Given the description of an element on the screen output the (x, y) to click on. 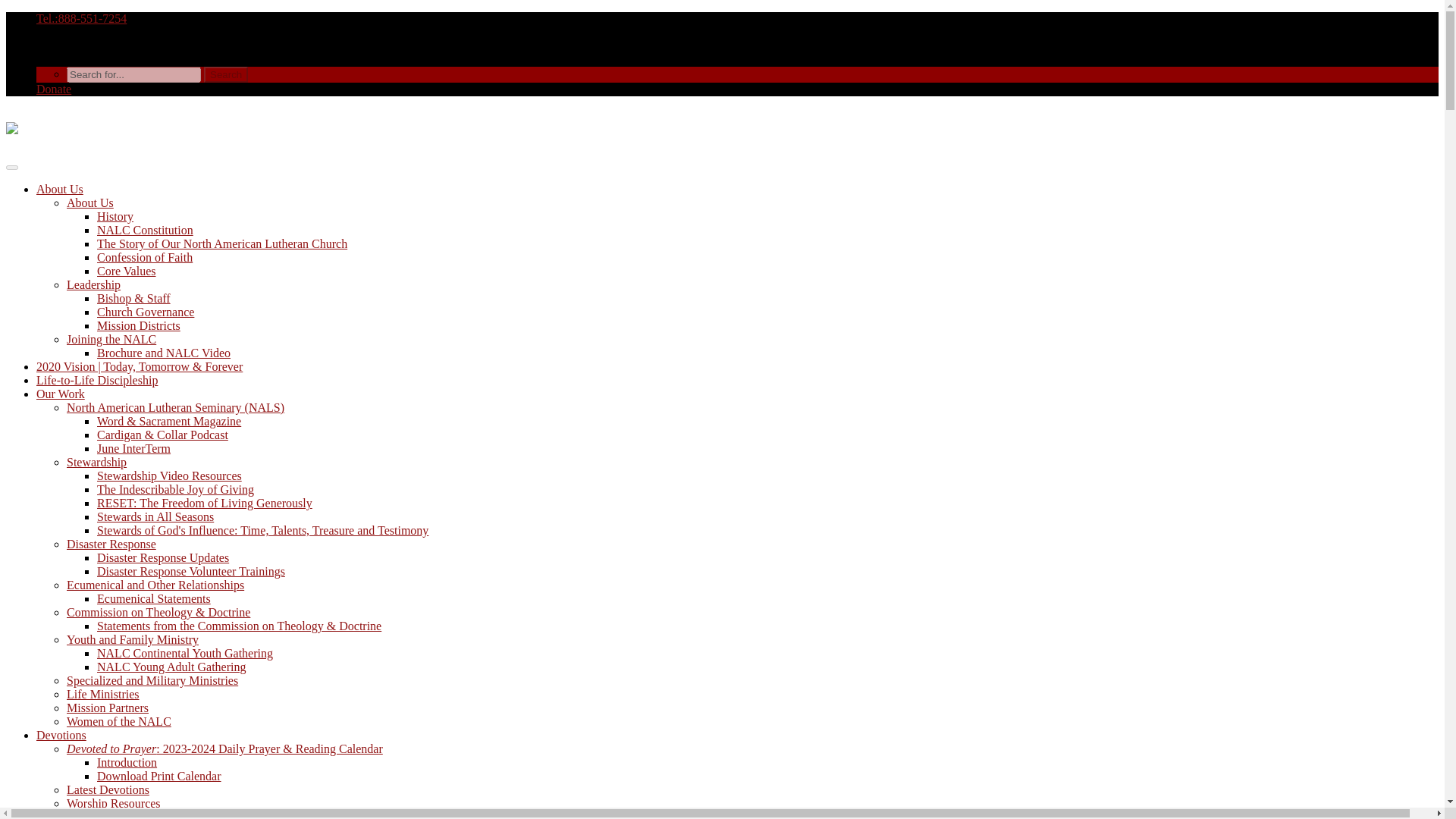
NALC Constitution (145, 229)
RESET: The Freedom of Living Generously (205, 502)
History (115, 215)
Disaster Response (110, 543)
Stewards in All Seasons (155, 516)
Our Work (60, 393)
Joining the NALC (110, 338)
Donate (53, 88)
About Us (89, 202)
Confession of Faith (144, 256)
